Given the description of an element on the screen output the (x, y) to click on. 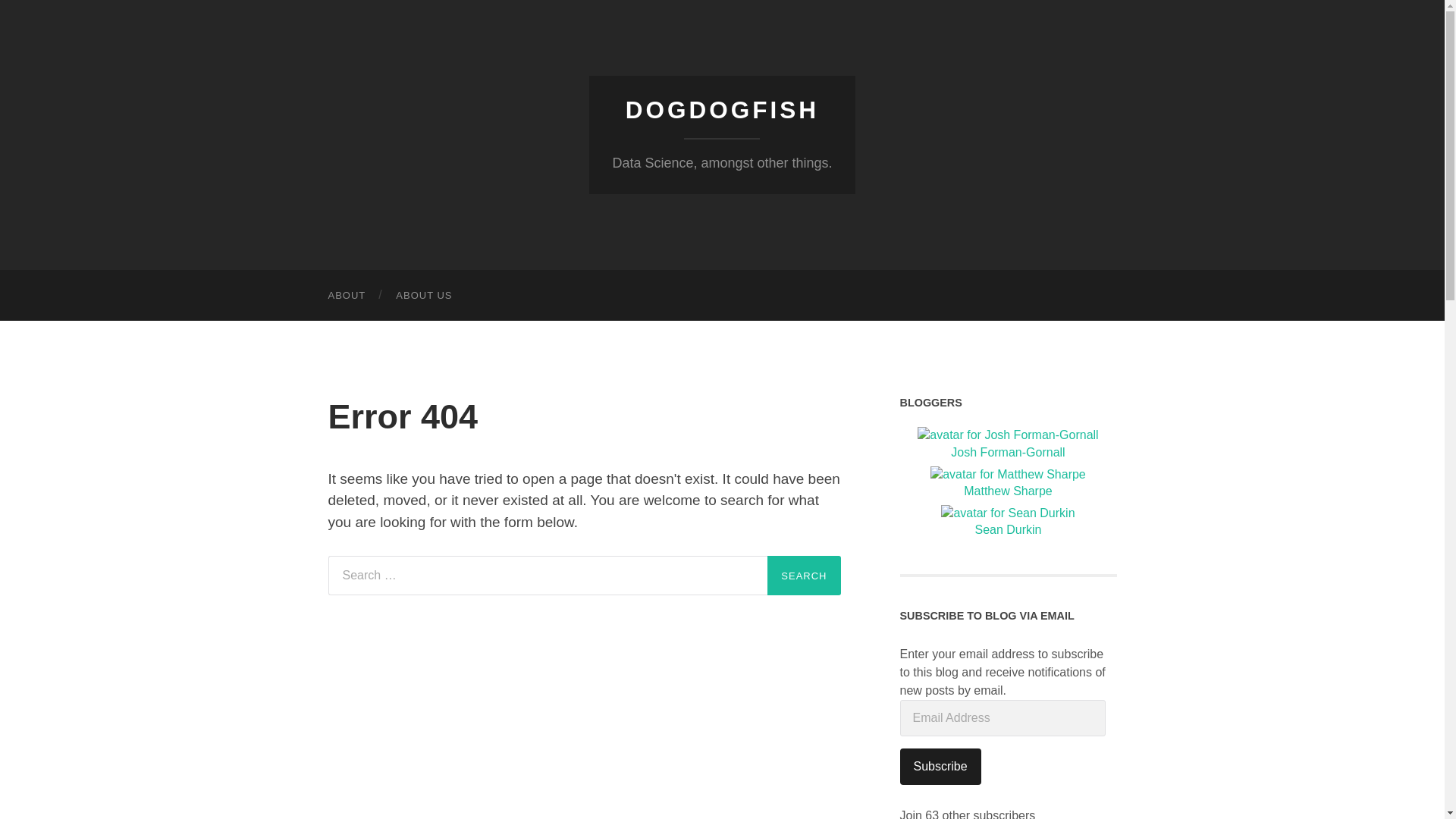
Subscribe (939, 766)
Sean Durkin (1008, 522)
Josh Forman-Gornall (1008, 444)
Search (803, 575)
Matthew Sharpe (1008, 483)
Search (803, 575)
Matthew Sharpe (1008, 483)
ABOUT (346, 295)
Search (803, 575)
Sean Durkin (1008, 522)
